Given the description of an element on the screen output the (x, y) to click on. 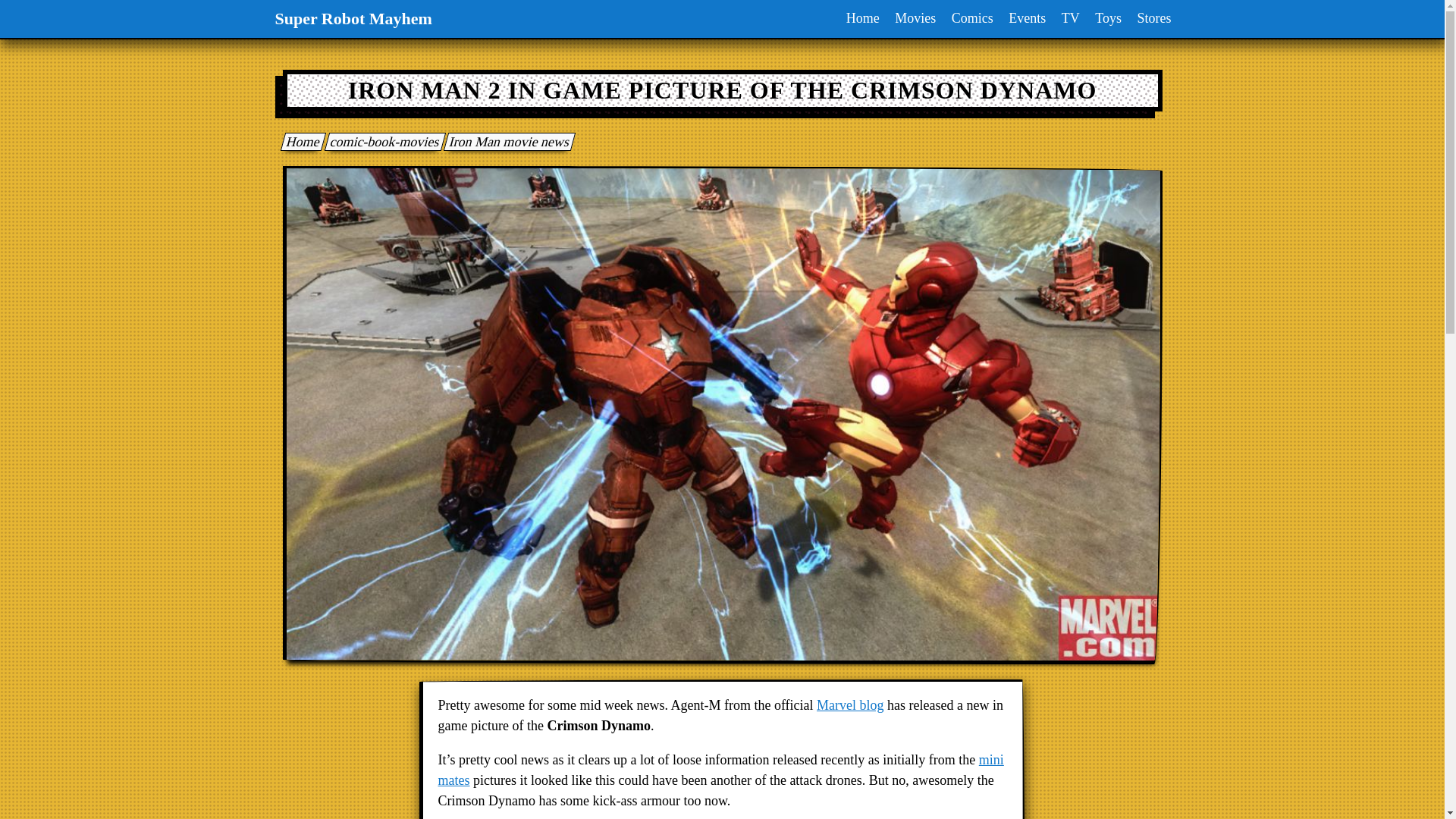
comic-book-movies (382, 141)
Super Robot Mayhem (352, 18)
mini mates (721, 769)
Super Robot Mayhem (299, 141)
Comics (971, 18)
comic-book-movies (382, 141)
iron man 2 mini mates (721, 769)
Stores (1154, 18)
Home (862, 18)
Events (1027, 18)
